Given the description of an element on the screen output the (x, y) to click on. 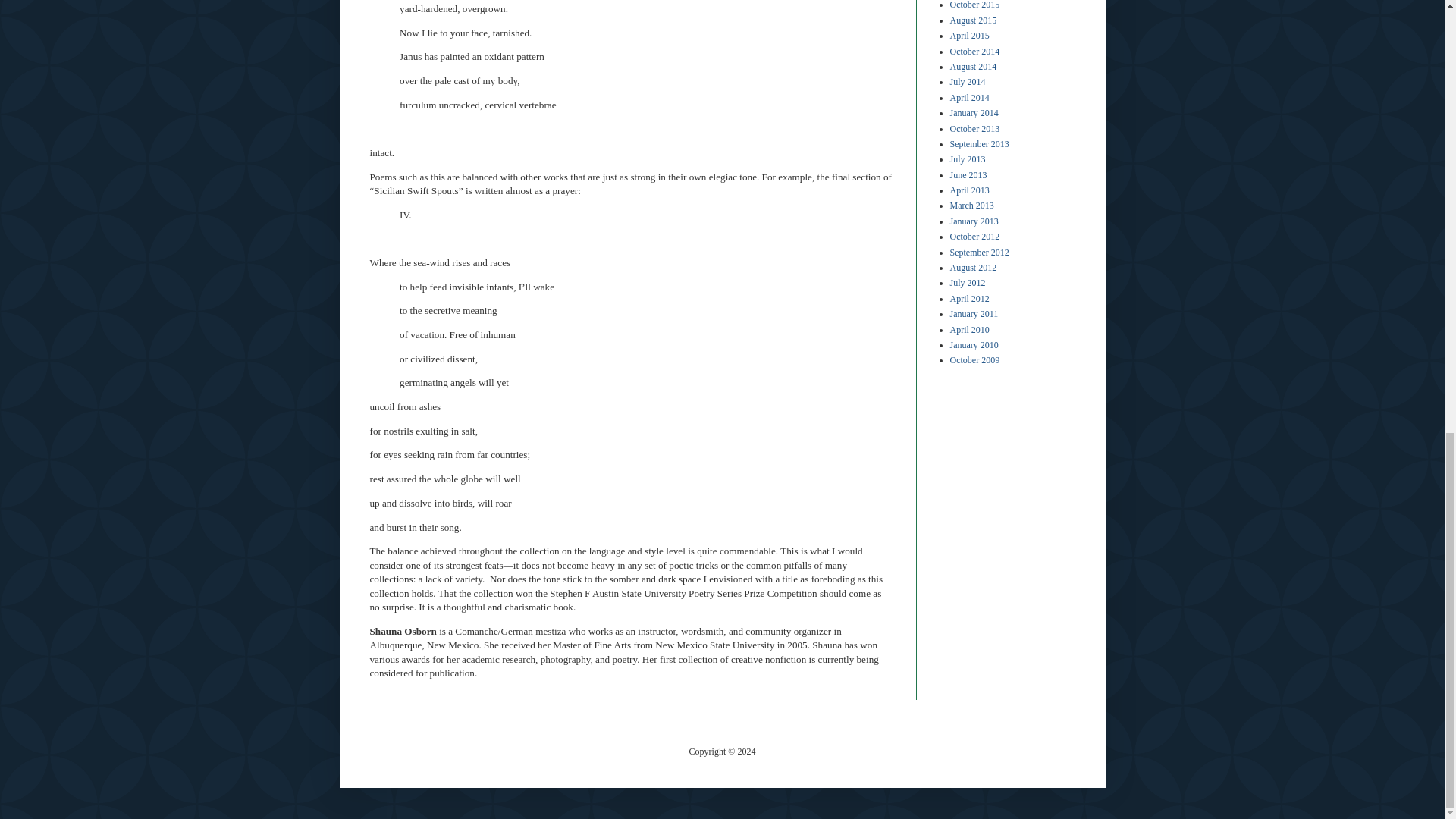
September 2013 (979, 143)
July 2012 (967, 282)
January 2010 (973, 344)
June 2013 (968, 174)
April 2010 (968, 329)
October 2015 (973, 4)
January 2014 (973, 112)
April 2012 (968, 298)
September 2012 (979, 252)
January 2011 (973, 313)
